Given the description of an element on the screen output the (x, y) to click on. 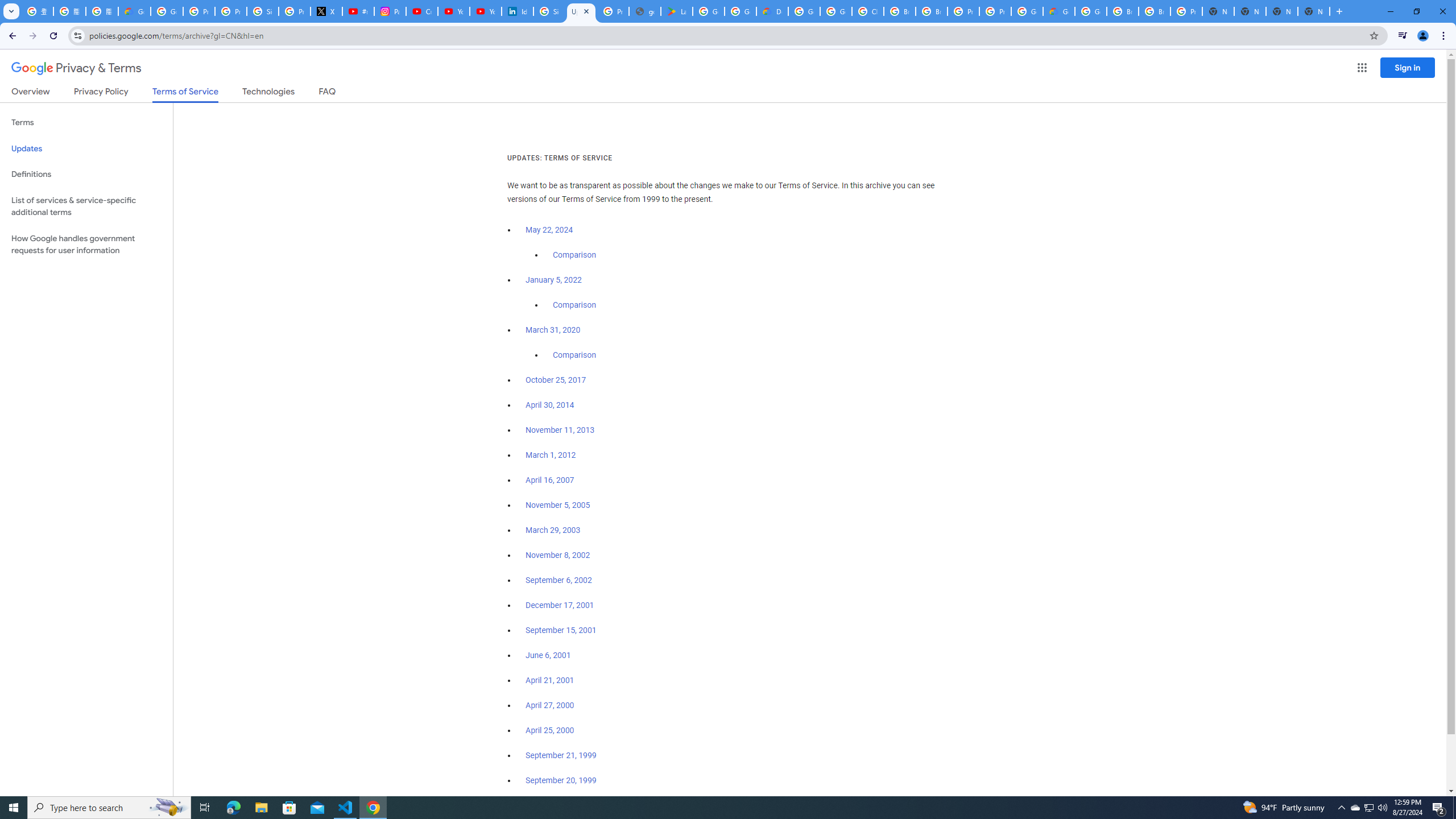
October 25, 2017 (555, 380)
#nbabasketballhighlights - YouTube (358, 11)
March 29, 2003 (552, 530)
September 20, 1999 (560, 780)
How Google handles government requests for user information (86, 244)
